Given the description of an element on the screen output the (x, y) to click on. 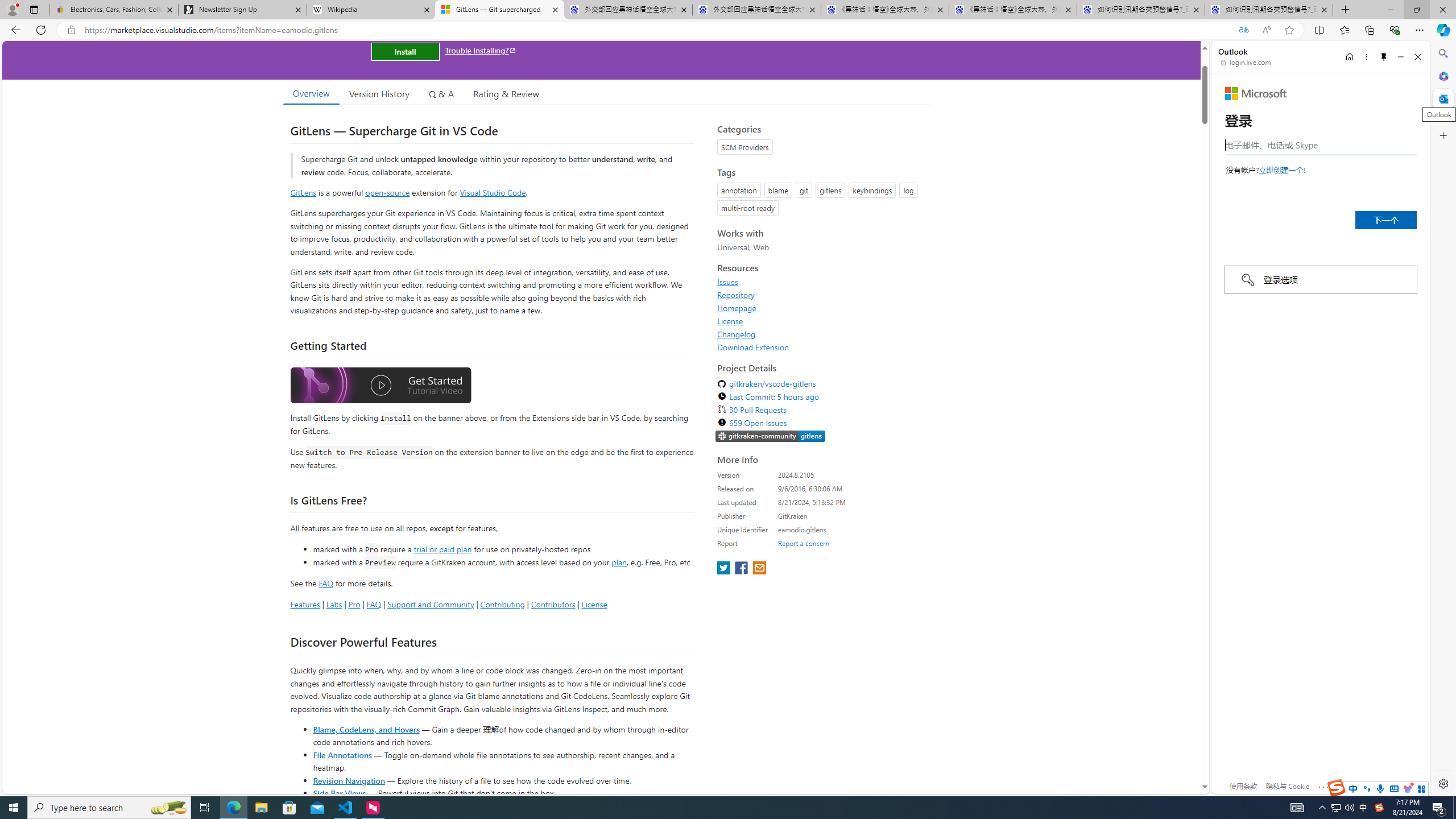
https://slack.gitkraken.com// (769, 436)
share extension on facebook (742, 568)
share extension on email (759, 568)
License (729, 320)
Overview (310, 92)
FAQ (373, 603)
trial or paid plan (442, 548)
Issues (820, 281)
share extension on twitter (724, 568)
Download Extension (753, 346)
License (820, 320)
